Given the description of an element on the screen output the (x, y) to click on. 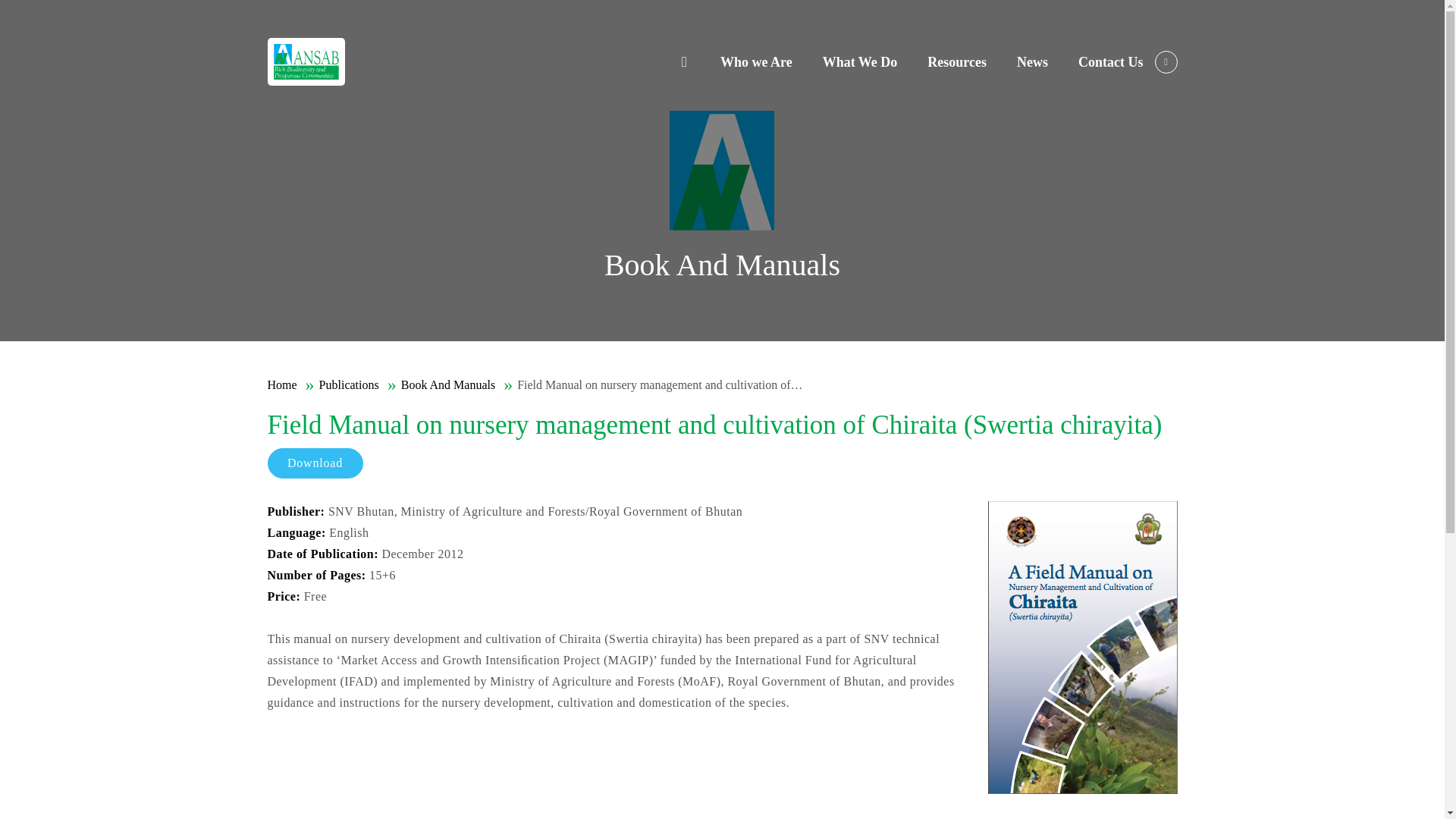
What We Do (860, 60)
Who we Are (756, 60)
Resources (957, 60)
